Given the description of an element on the screen output the (x, y) to click on. 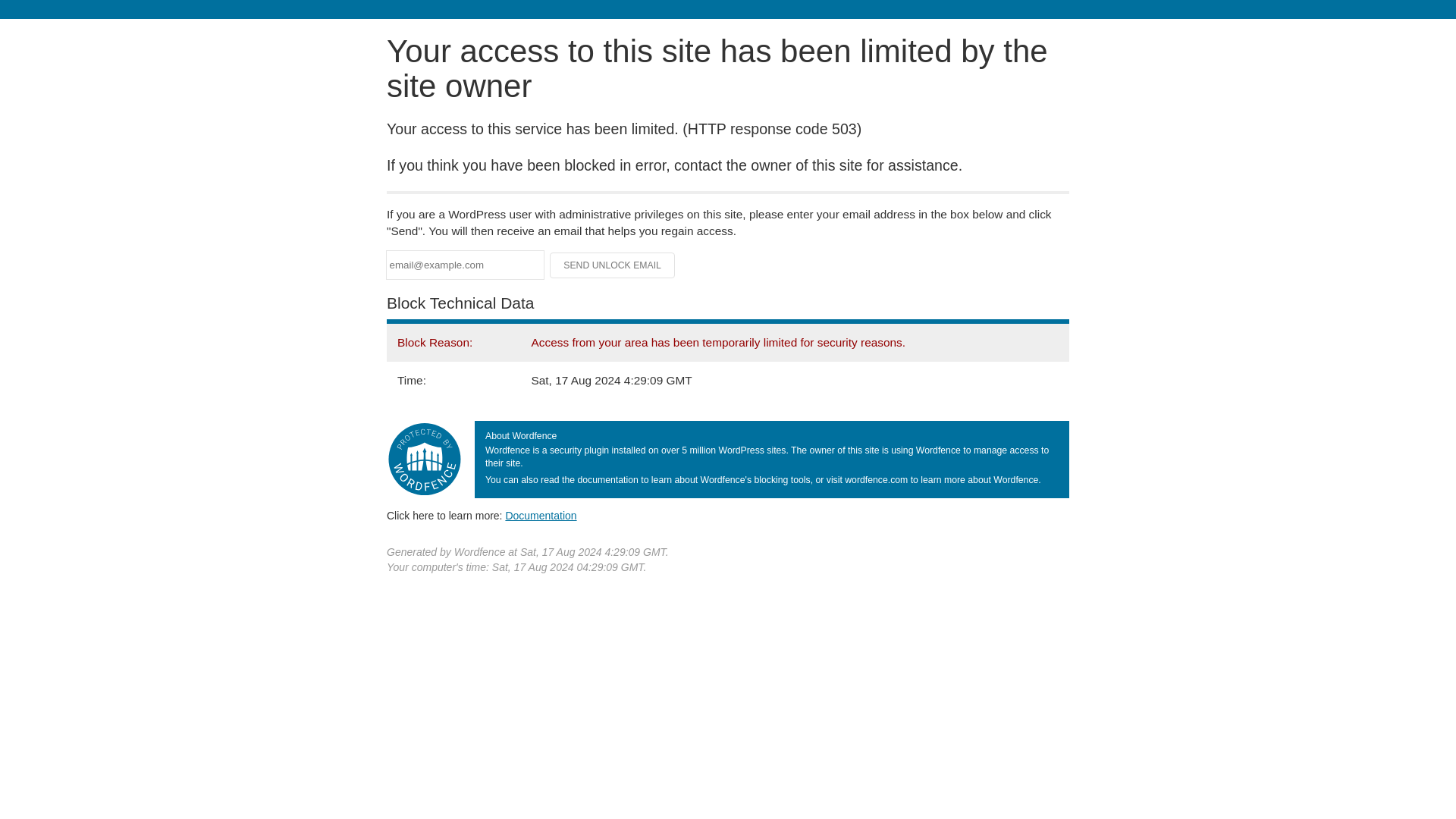
Send Unlock Email (612, 265)
Documentation (540, 515)
Send Unlock Email (612, 265)
